Given the description of an element on the screen output the (x, y) to click on. 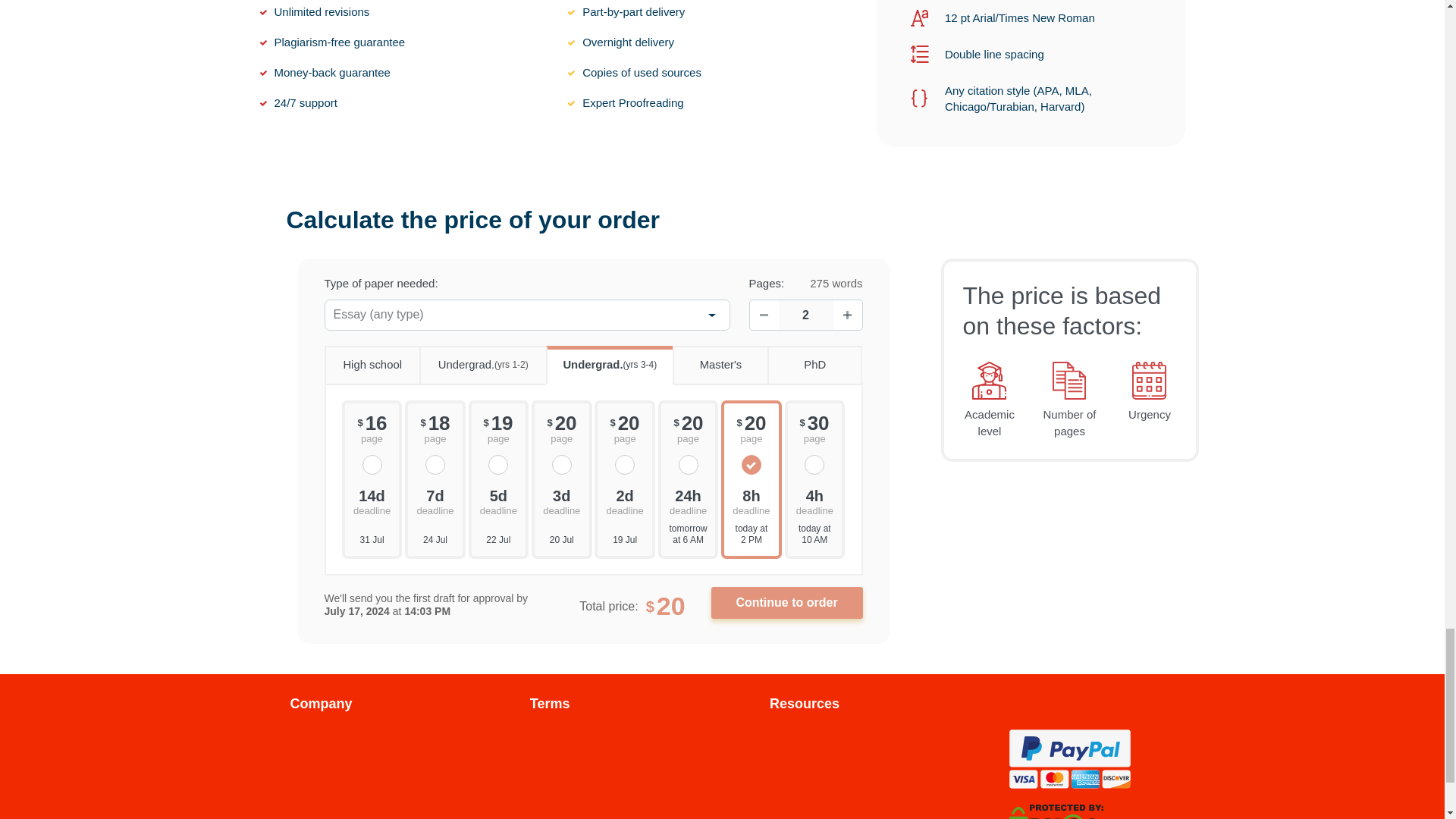
2 (804, 315)
4 hours (815, 500)
2 days (624, 500)
Decrease (763, 314)
7 days (435, 500)
3 days (561, 500)
DMCA (1056, 816)
Continue to order (787, 603)
8 hours (751, 500)
24 hours (688, 500)
Continue to order (787, 603)
14 days (372, 500)
5 days (499, 500)
Continue to Order (787, 603)
Increase (846, 314)
